Given the description of an element on the screen output the (x, y) to click on. 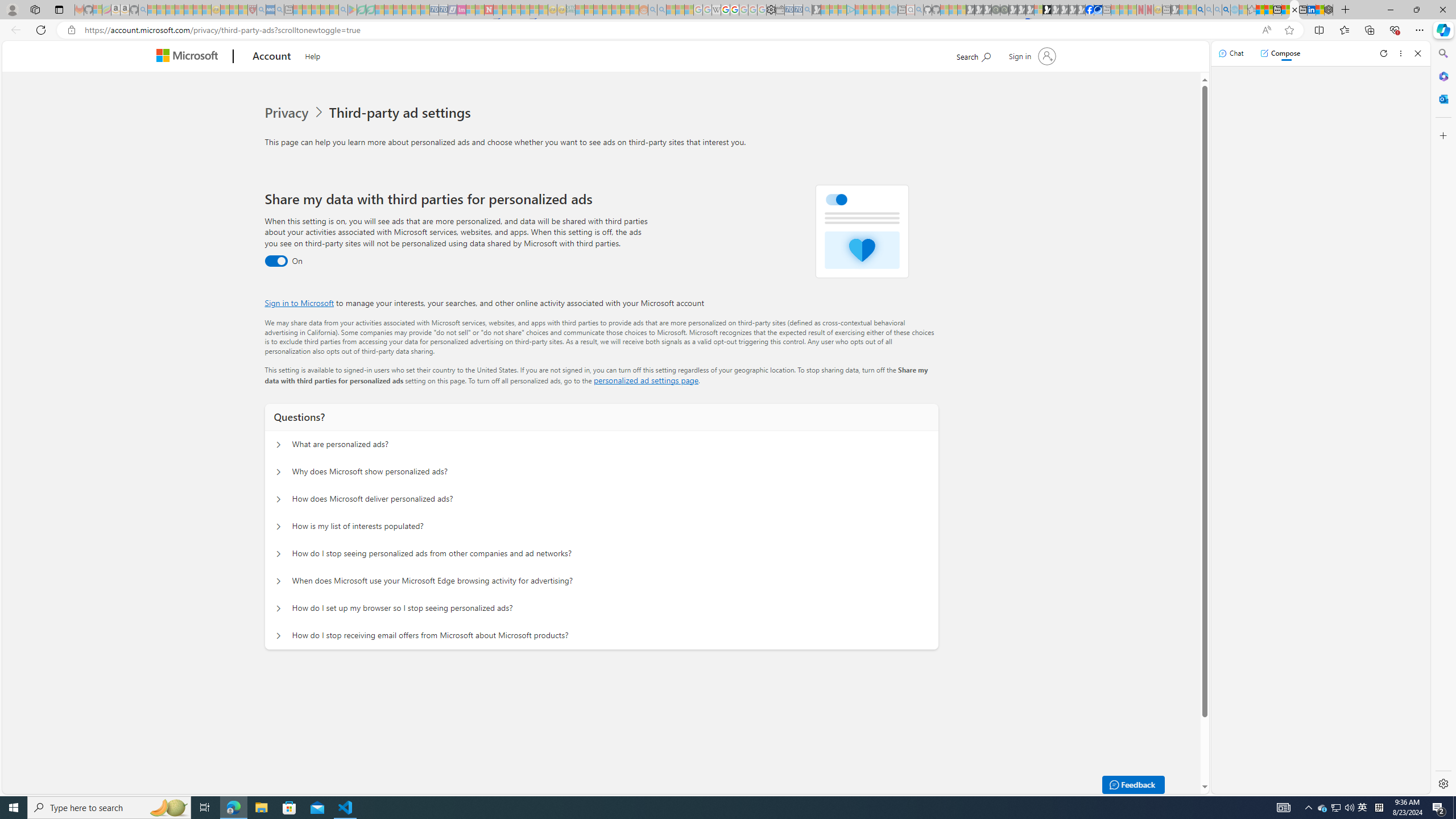
Sign in to Microsoft (299, 302)
